Given the description of an element on the screen output the (x, y) to click on. 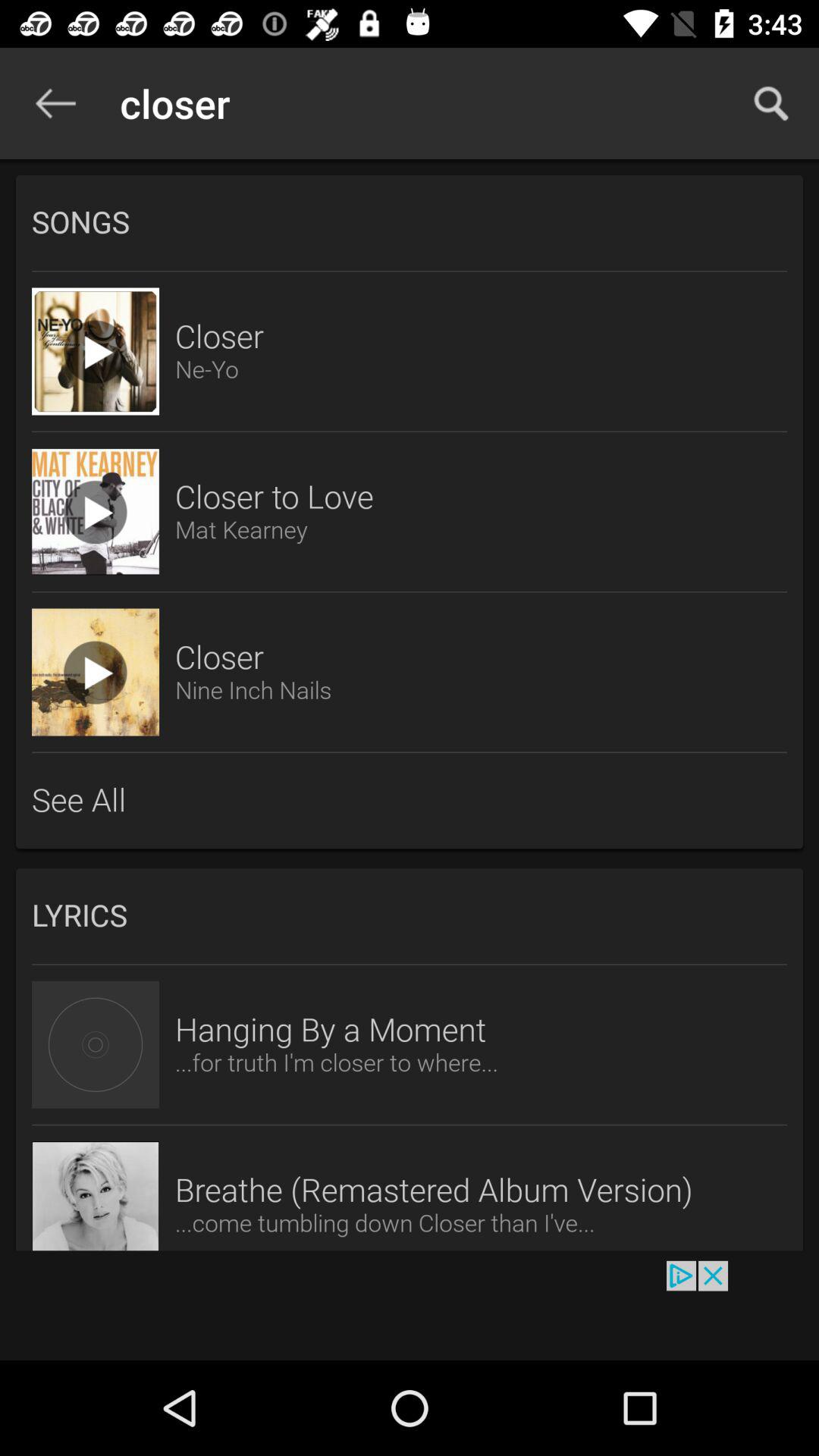
press the lyrics (409, 916)
